Given the description of an element on the screen output the (x, y) to click on. 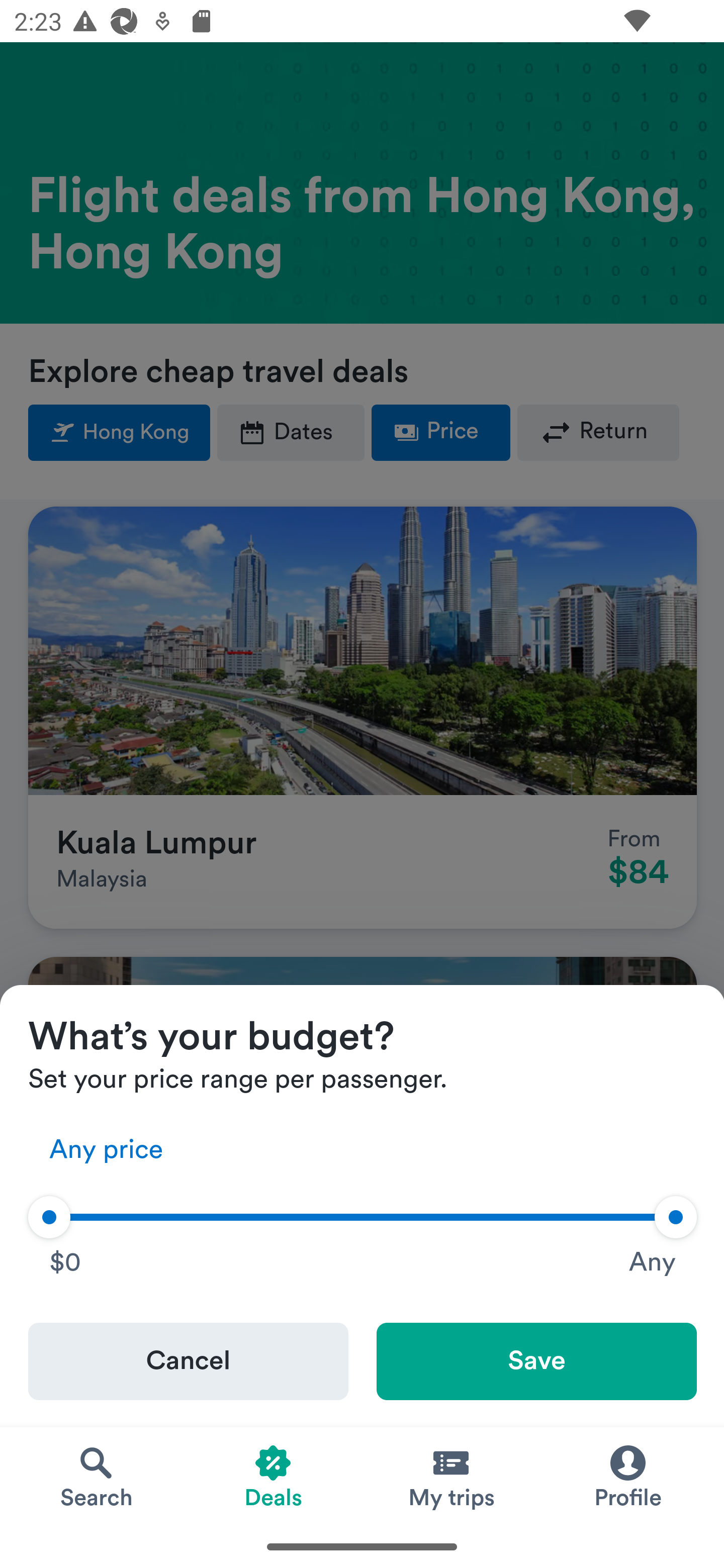
-1.0 (49, 1217)
70.0 (676, 1217)
Cancel (188, 1362)
Save (537, 1362)
Search (95, 1475)
My trips (450, 1475)
Profile (627, 1475)
